Given the description of an element on the screen output the (x, y) to click on. 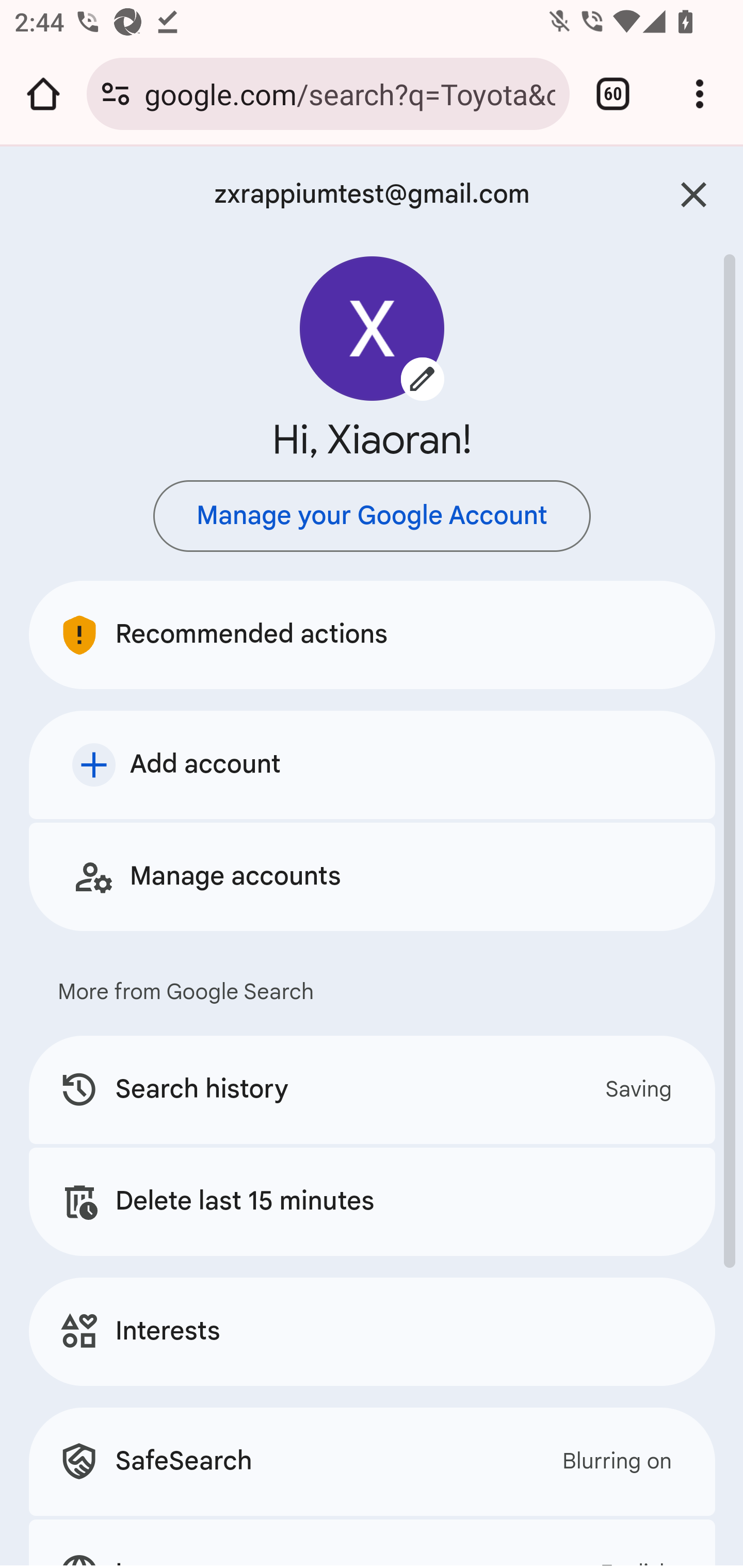
Open the home page (43, 93)
Connection is secure (115, 93)
Switch or close tabs (612, 93)
Customize and control Google Chrome (699, 93)
Close menu (694, 195)
Change profile picture (372, 328)
Manage your Google Account (371, 515)
Recommended actions (372, 633)
Add account (372, 764)
Manage accounts (372, 876)
Delete last 15 minutes (372, 1200)
interests Interests interests Interests (372, 1331)
